Given the description of an element on the screen output the (x, y) to click on. 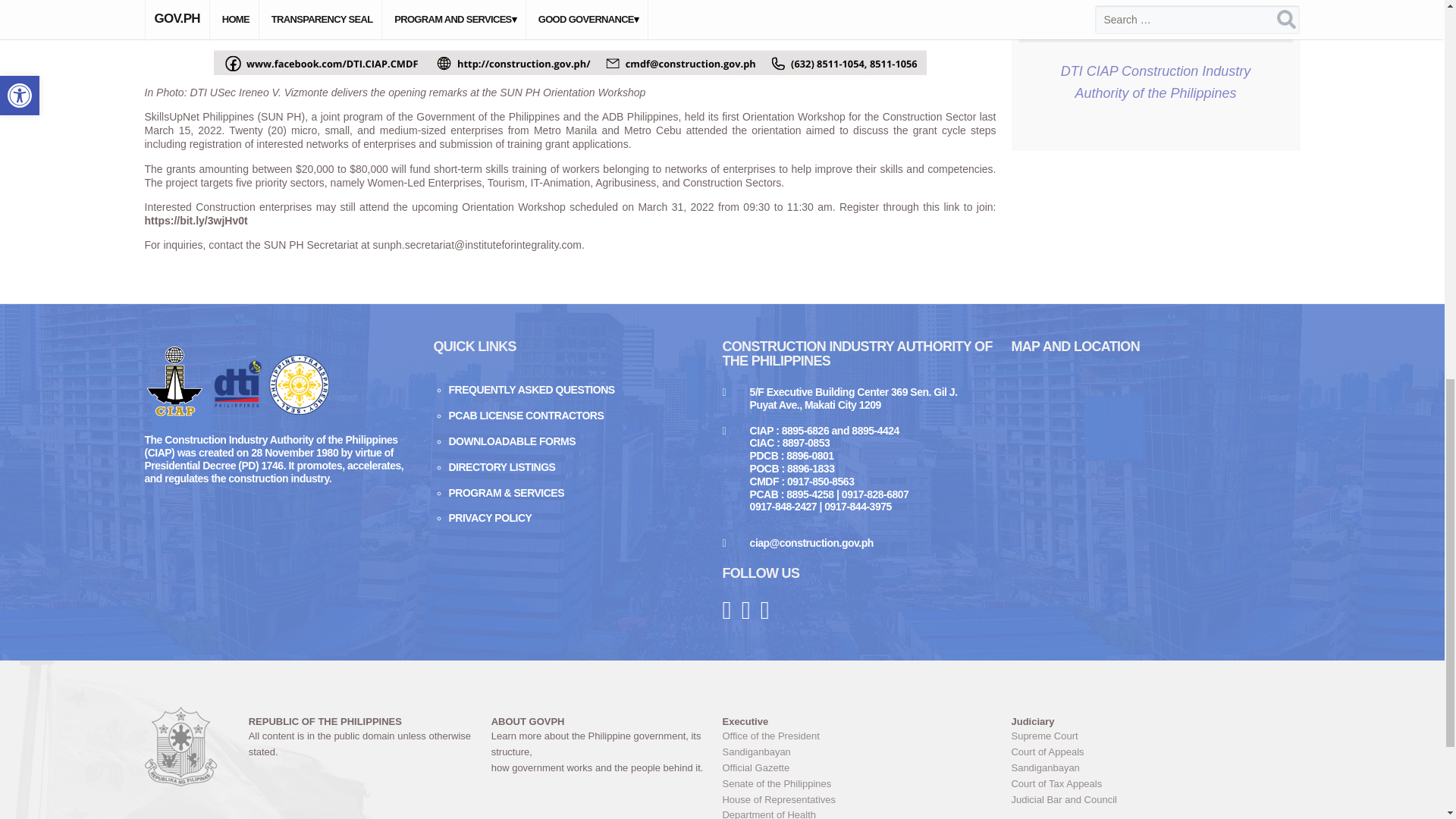
Read More.. (1147, 61)
Read More.. (1147, 289)
Read More.. (1147, 400)
Read More.. (1147, 179)
